Given the description of an element on the screen output the (x, y) to click on. 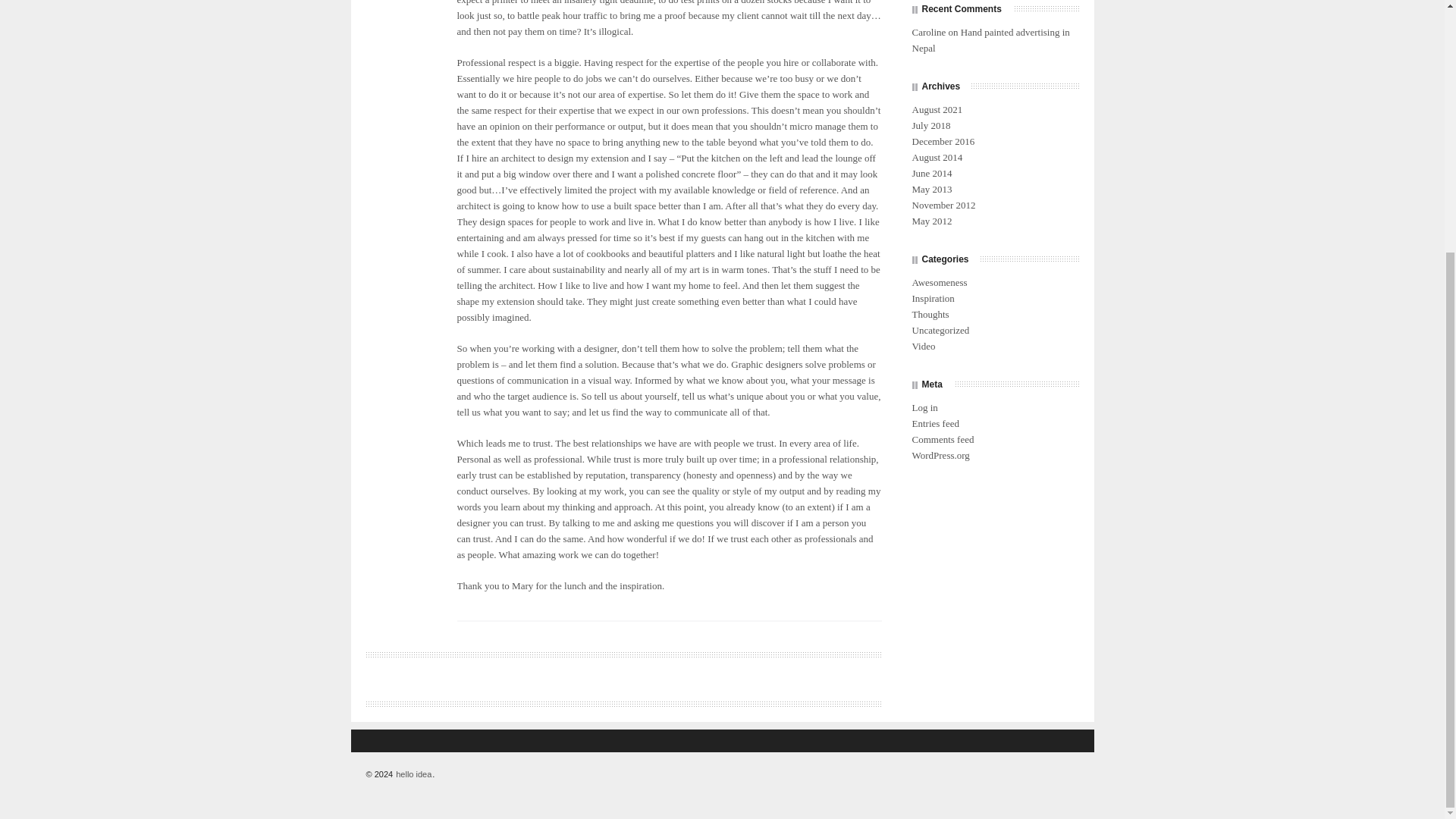
Awesomeness (939, 282)
August 2014 (936, 156)
WordPress.org (940, 455)
June 2014 (931, 173)
May 2013 (931, 188)
Hand painted advertising in Nepal (989, 40)
Thoughts (930, 314)
hello idea (413, 774)
May 2012 (931, 220)
Log in (924, 407)
Inspiration (932, 297)
Entries feed (934, 423)
Uncategorized (940, 329)
August 2021 (936, 109)
December 2016 (942, 141)
